Given the description of an element on the screen output the (x, y) to click on. 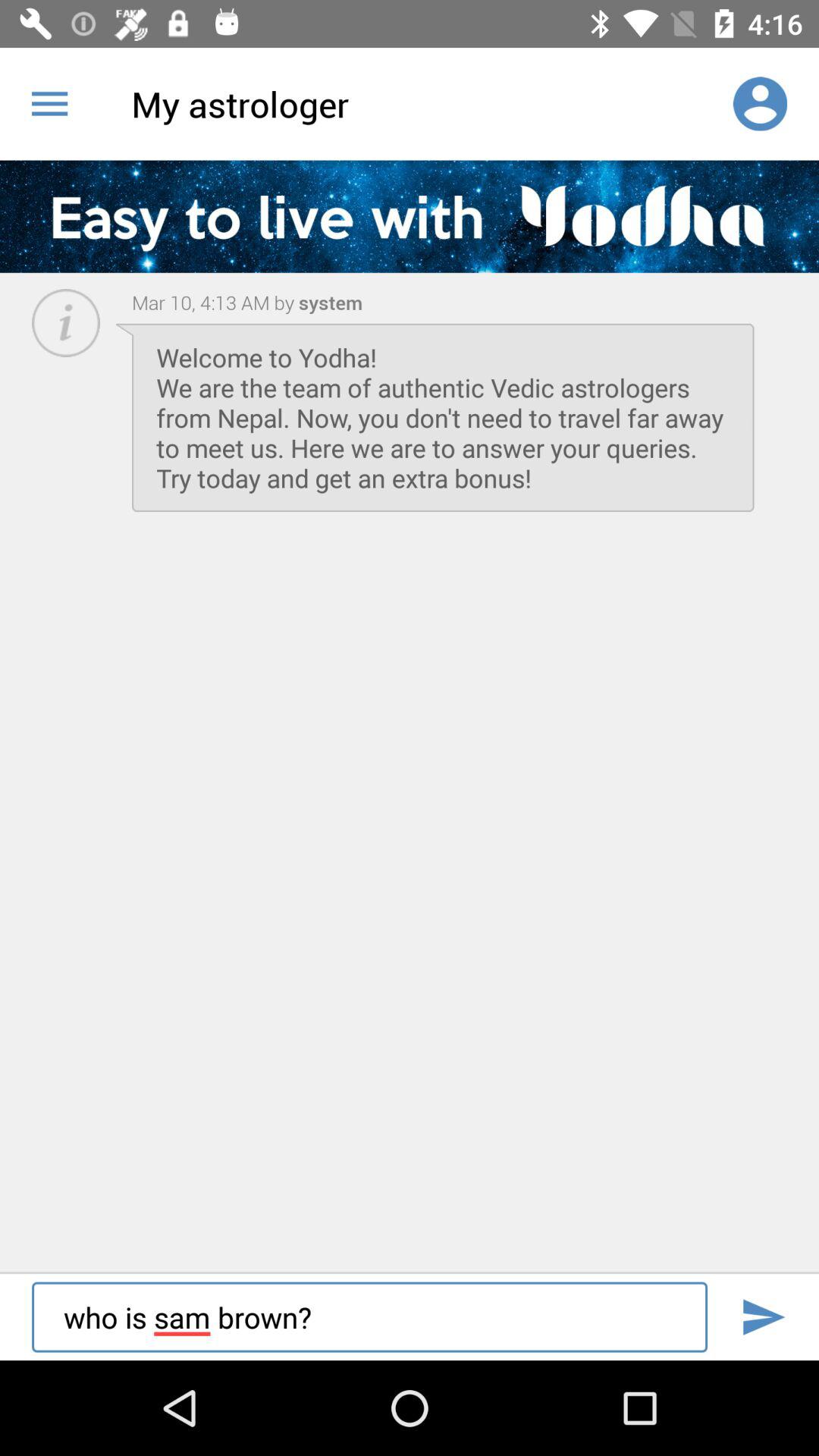
launch the welcome to yodha (442, 417)
